Given the description of an element on the screen output the (x, y) to click on. 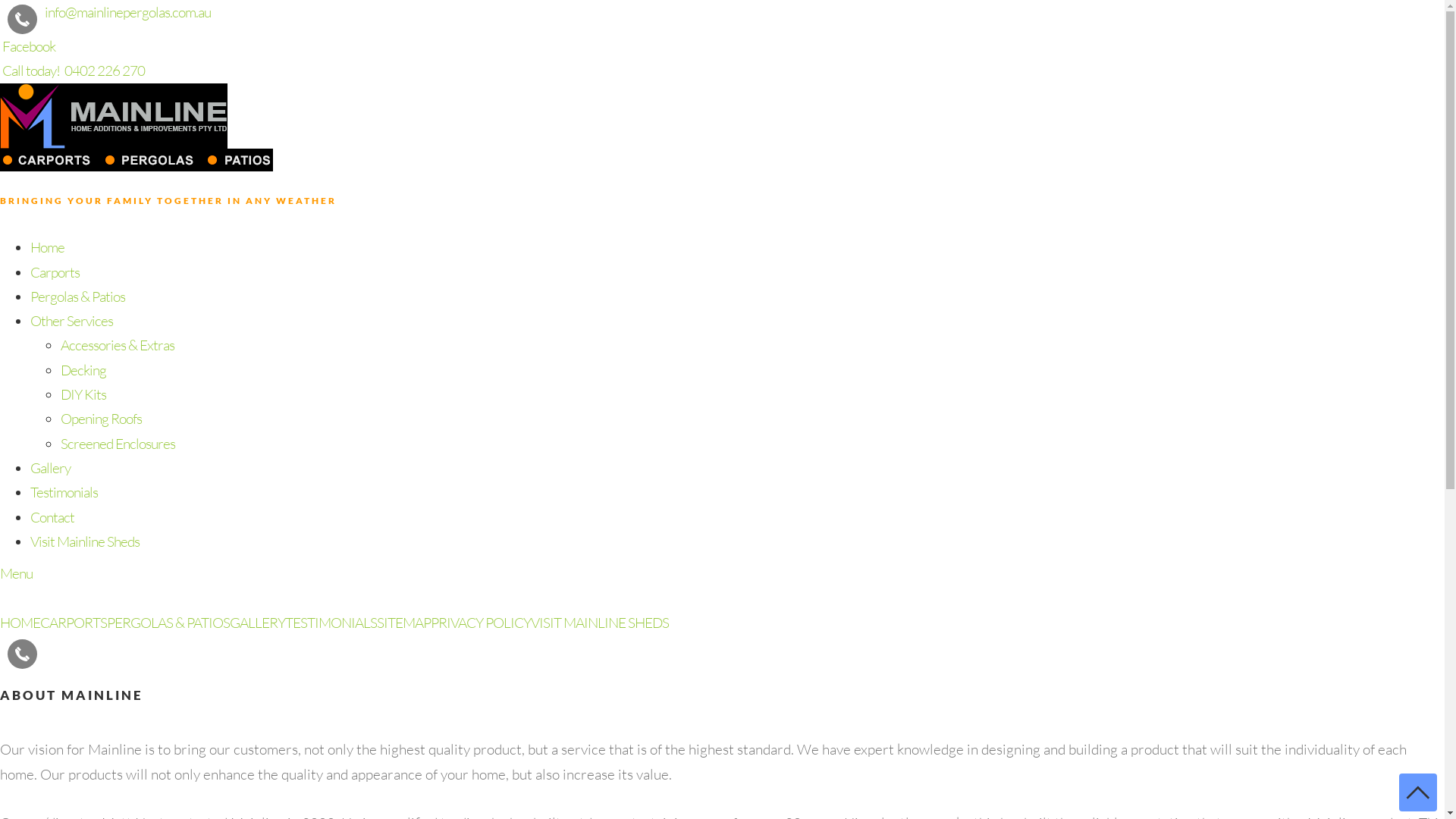
Opening Roofs Element type: text (100, 418)
SITEMAP Element type: text (403, 622)
  Element type: text (48, 646)
GALLERY Element type: text (257, 622)
  Element type: text (1, 46)
  Element type: text (22, 653)
Menu Element type: text (16, 573)
Facebook Element type: text (28, 46)
Pergolas & Patios Element type: text (77, 296)
Call today!  0402 226 270 Element type: text (73, 70)
Decking Element type: text (83, 369)
Testimonials Element type: text (63, 492)
Accessories & Extras Element type: text (117, 344)
DIY Kits Element type: text (83, 394)
Screened Enclosures Element type: text (117, 443)
info@mainlinepergolas.com.au Element type: text (127, 12)
VISIT MAINLINE SHEDS Element type: text (599, 622)
CARPORTS Element type: text (73, 622)
Visit Mainline Sheds Element type: text (84, 541)
PRIVACY POLICY Element type: text (480, 622)
Gallery Element type: text (50, 467)
PERGOLAS & PATIOS Element type: text (167, 622)
  Element type: text (22, 19)
HOME Element type: text (20, 622)
Other Services Element type: text (71, 320)
TESTIMONIALS Element type: text (330, 622)
Carports Element type: text (54, 272)
Home Element type: text (47, 247)
  Element type: text (1, 70)
Contact Element type: text (52, 517)
  Element type: text (45, 646)
